Given the description of an element on the screen output the (x, y) to click on. 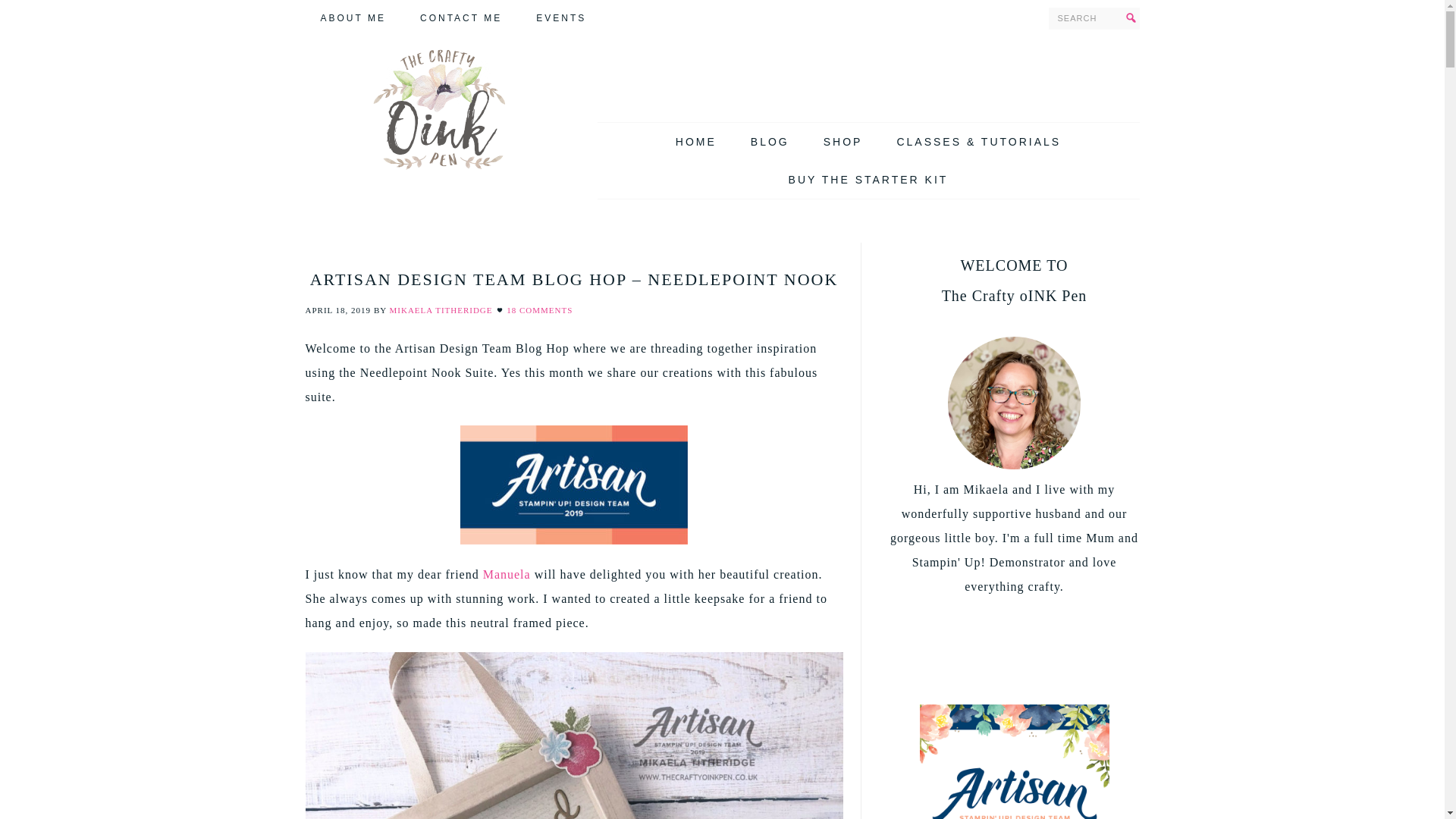
MIKAELA TITHERIDGE (441, 309)
18 COMMENTS (539, 309)
ABOUT ME (352, 18)
Manuela (507, 574)
BLOG (770, 141)
SHOP (842, 141)
EVENTS (561, 18)
HOME (696, 141)
CONTACT ME (460, 18)
BUY THE STARTER KIT (868, 179)
THE CRAFTY OINK PEN (437, 107)
